Given the description of an element on the screen output the (x, y) to click on. 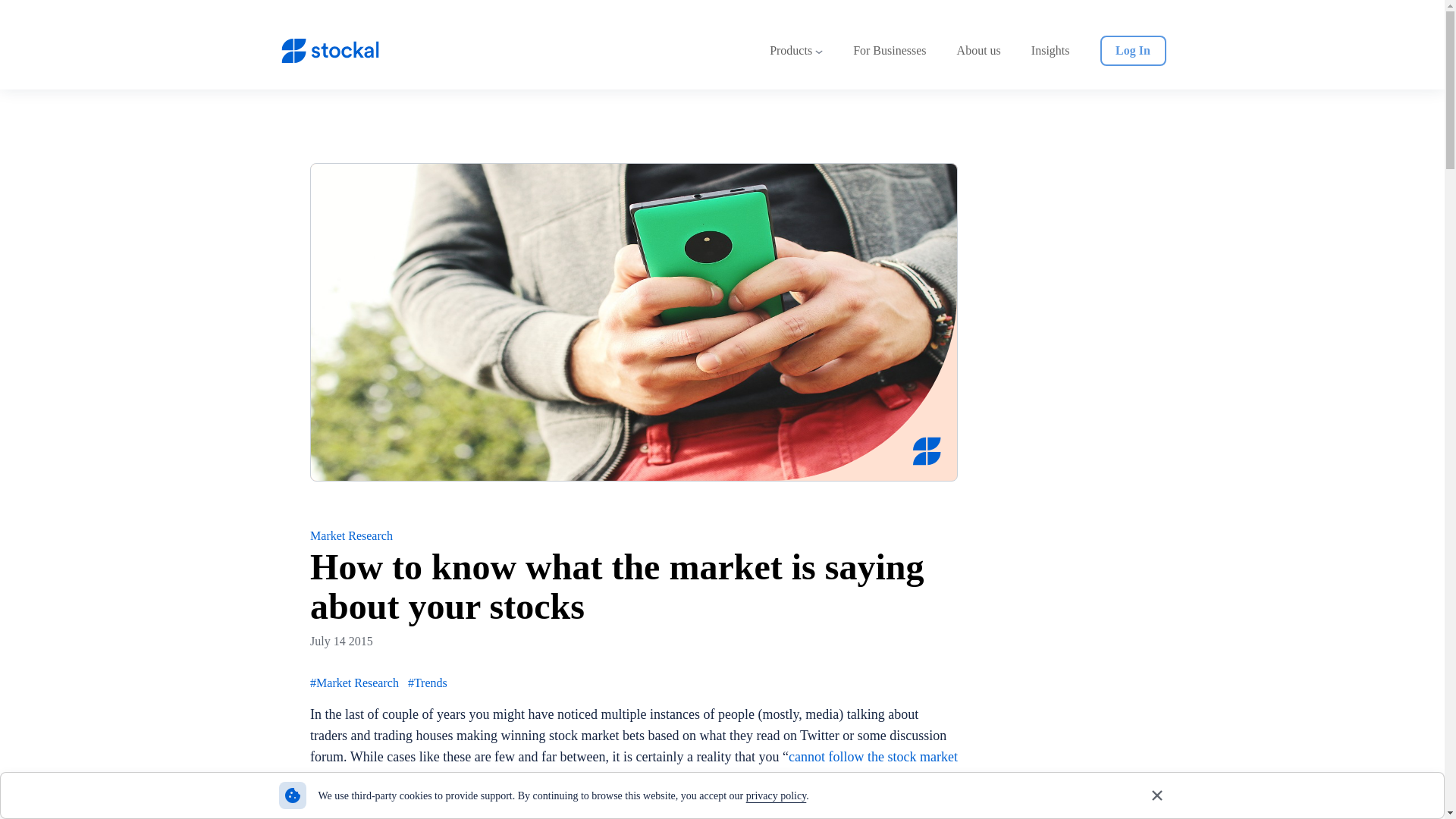
Log In (1125, 51)
Log In (1132, 51)
Market Research (363, 535)
Products (796, 51)
cannot follow the stock market enough (634, 767)
Insights (1050, 51)
About us (979, 51)
privacy policy (775, 795)
For Businesses (889, 51)
